Given the description of an element on the screen output the (x, y) to click on. 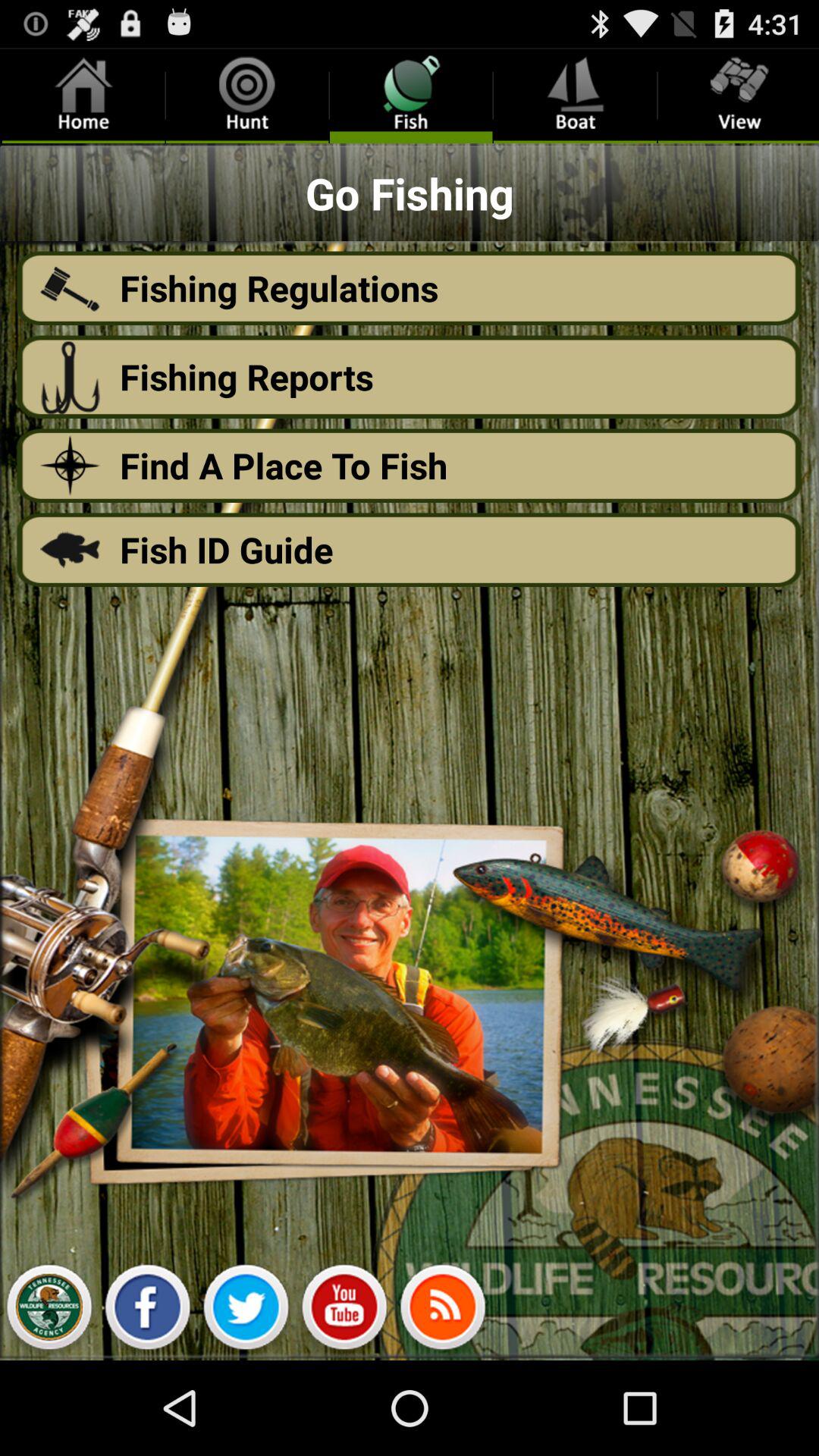
share the article (147, 1311)
